Given the description of an element on the screen output the (x, y) to click on. 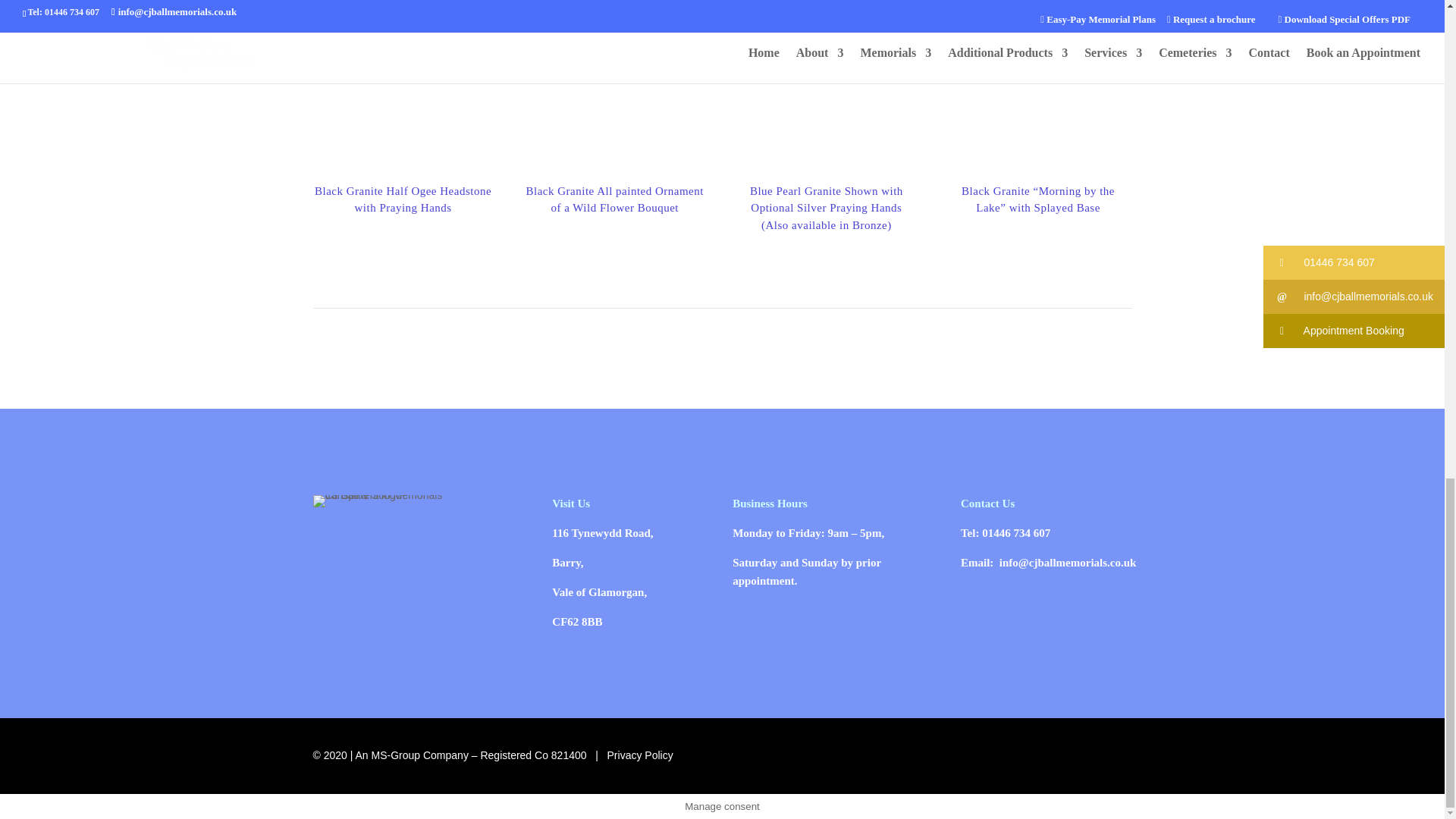
Black Granite Half Ogee Headstone with Praying Hands (403, 84)
Blue Pearl Granite Shown with Optional Silver Praying Hands (826, 84)
CJ 2020 Logo Hollow 2 (398, 500)
Black Granite All painted Ornament of a Wild Flower Bouquet (614, 84)
